Given the description of an element on the screen output the (x, y) to click on. 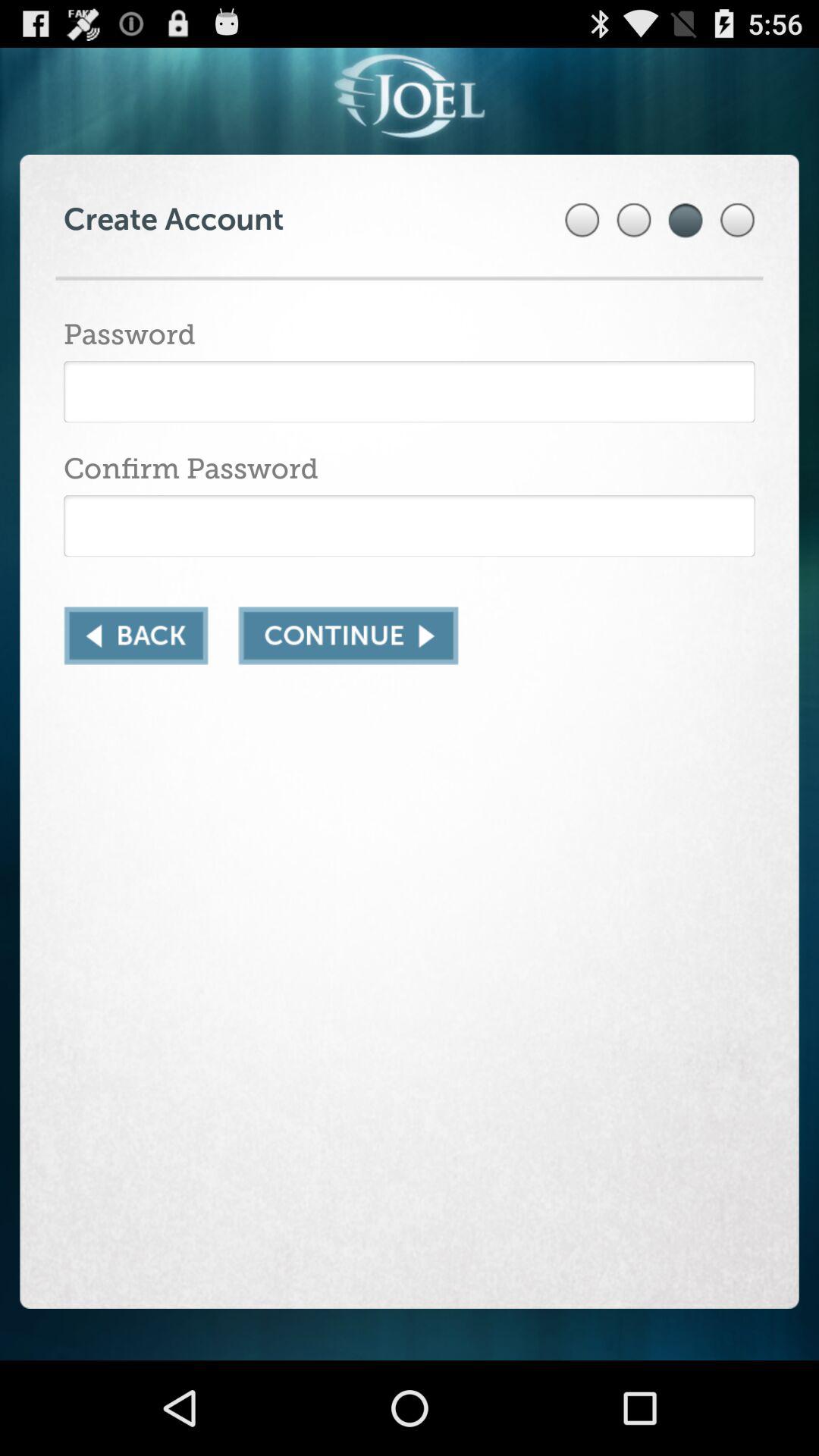
confirm password text entry field (409, 525)
